Given the description of an element on the screen output the (x, y) to click on. 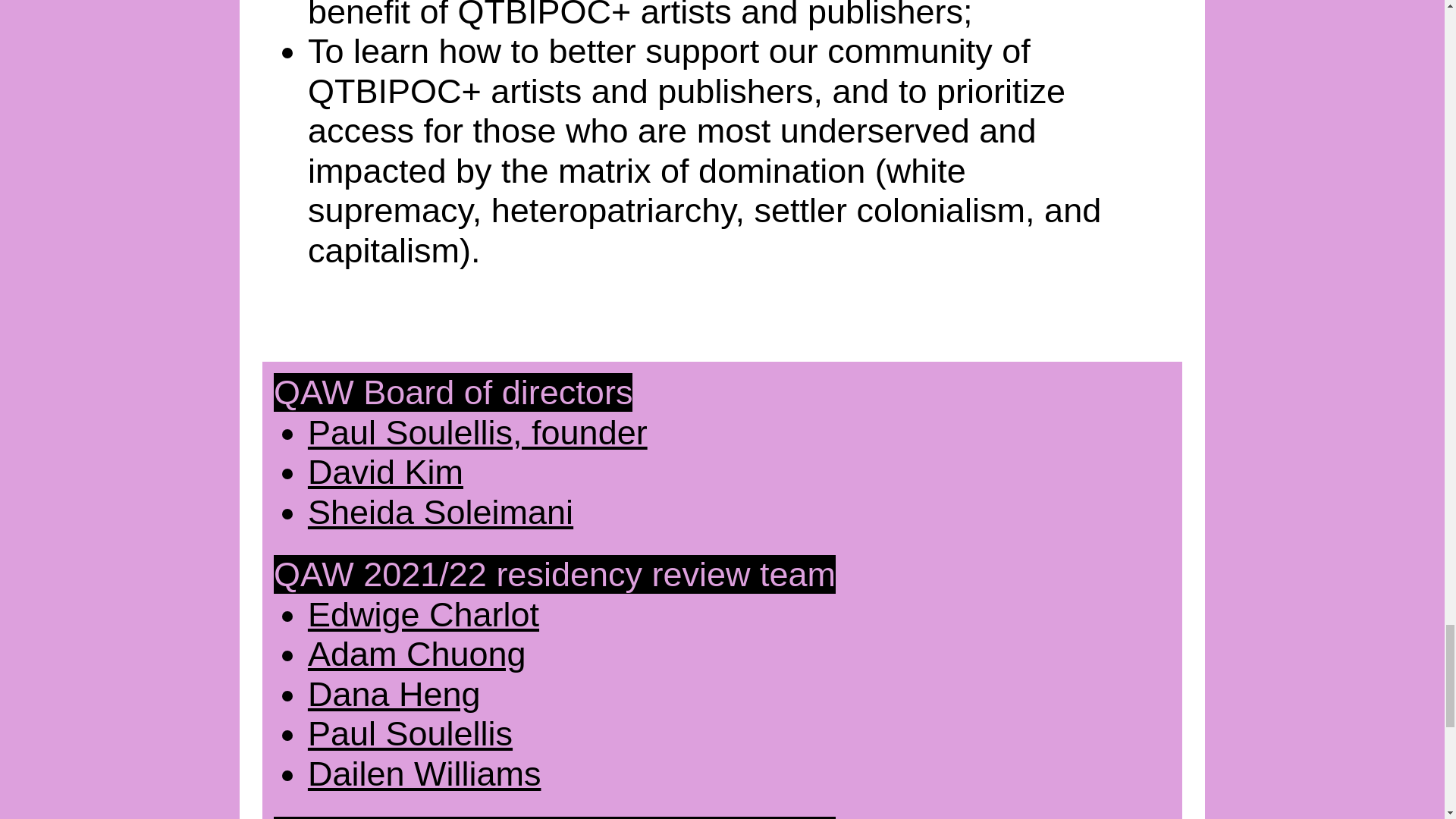
Dailen Williams (424, 773)
Paul Soulellis (409, 733)
Paul Soulellis, founder (477, 432)
Adam Chuong (416, 653)
David Kim (385, 471)
Dana Heng (393, 693)
Edwige Charlot (422, 614)
Sheida Soleimani (440, 512)
